Given the description of an element on the screen output the (x, y) to click on. 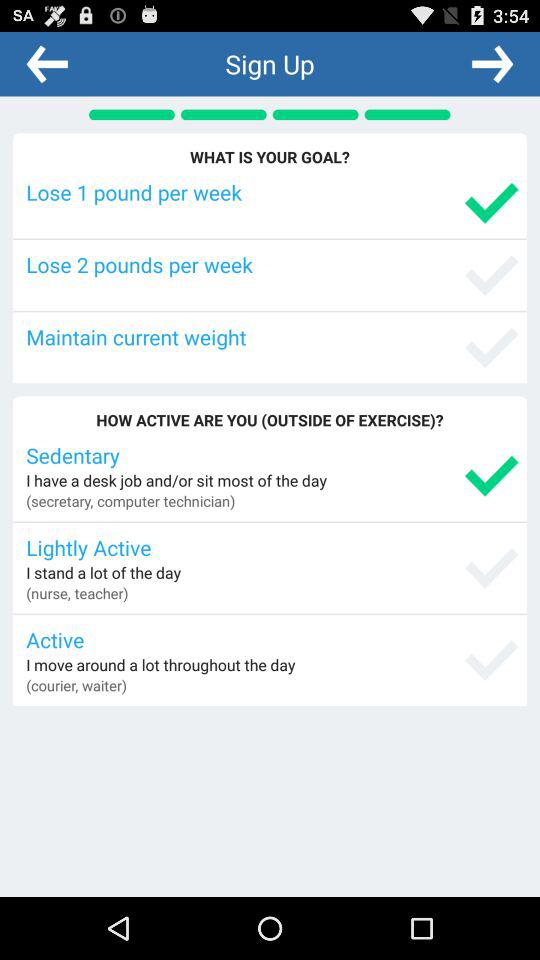
turn on icon above the what is your icon (492, 63)
